Given the description of an element on the screen output the (x, y) to click on. 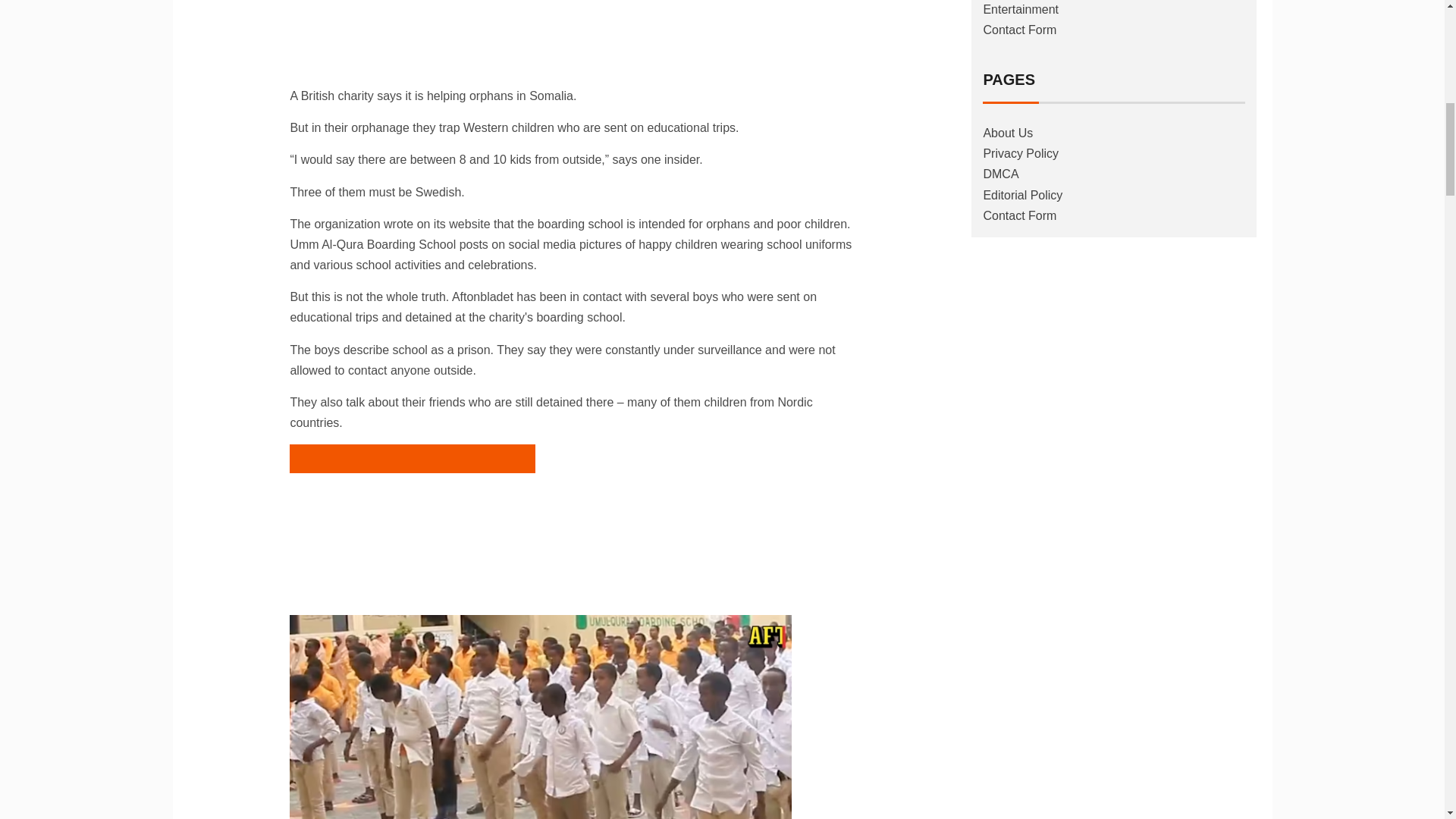
Expand left (411, 516)
share share (412, 458)
